Given the description of an element on the screen output the (x, y) to click on. 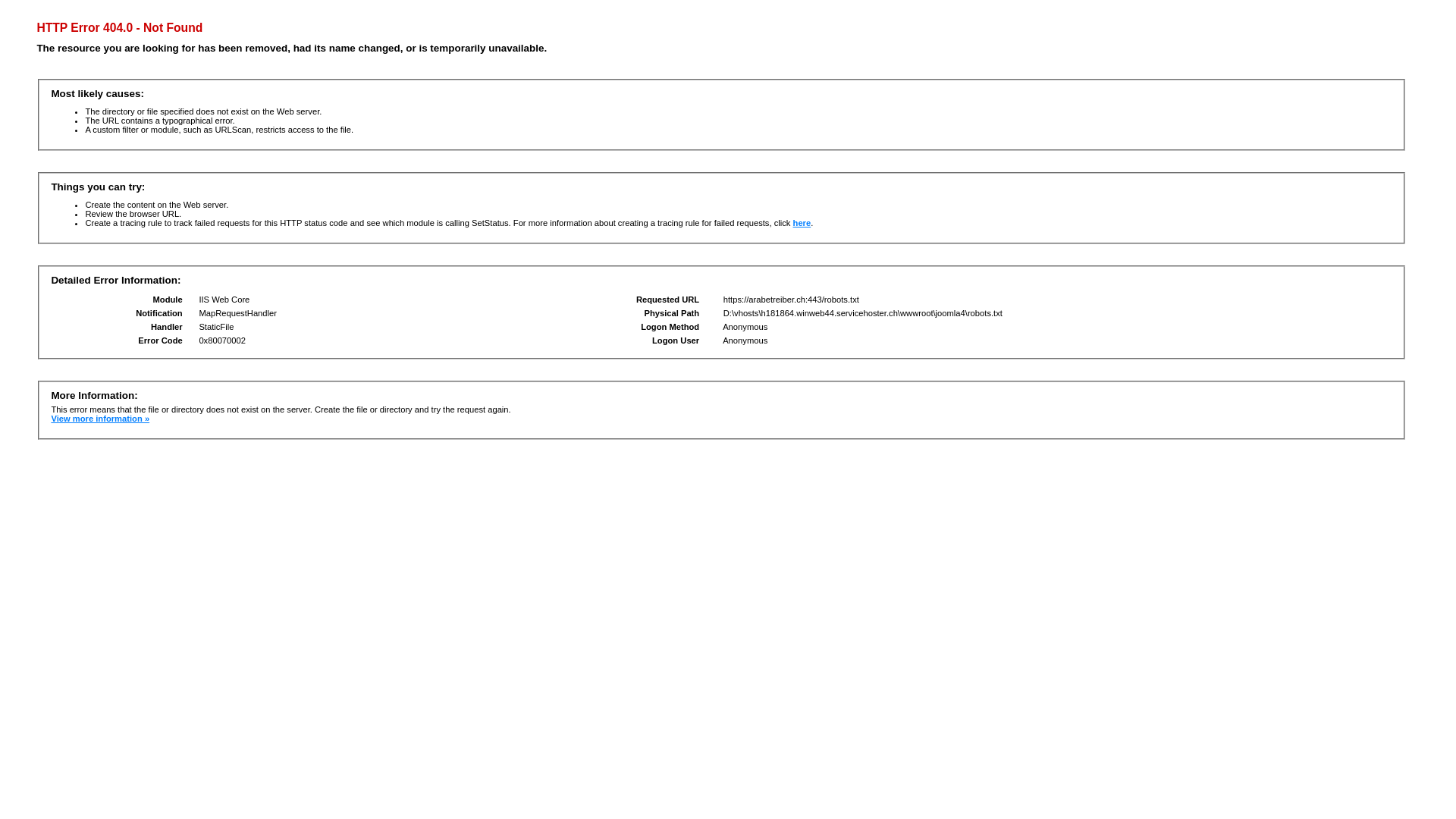
here Element type: text (802, 222)
